Given the description of an element on the screen output the (x, y) to click on. 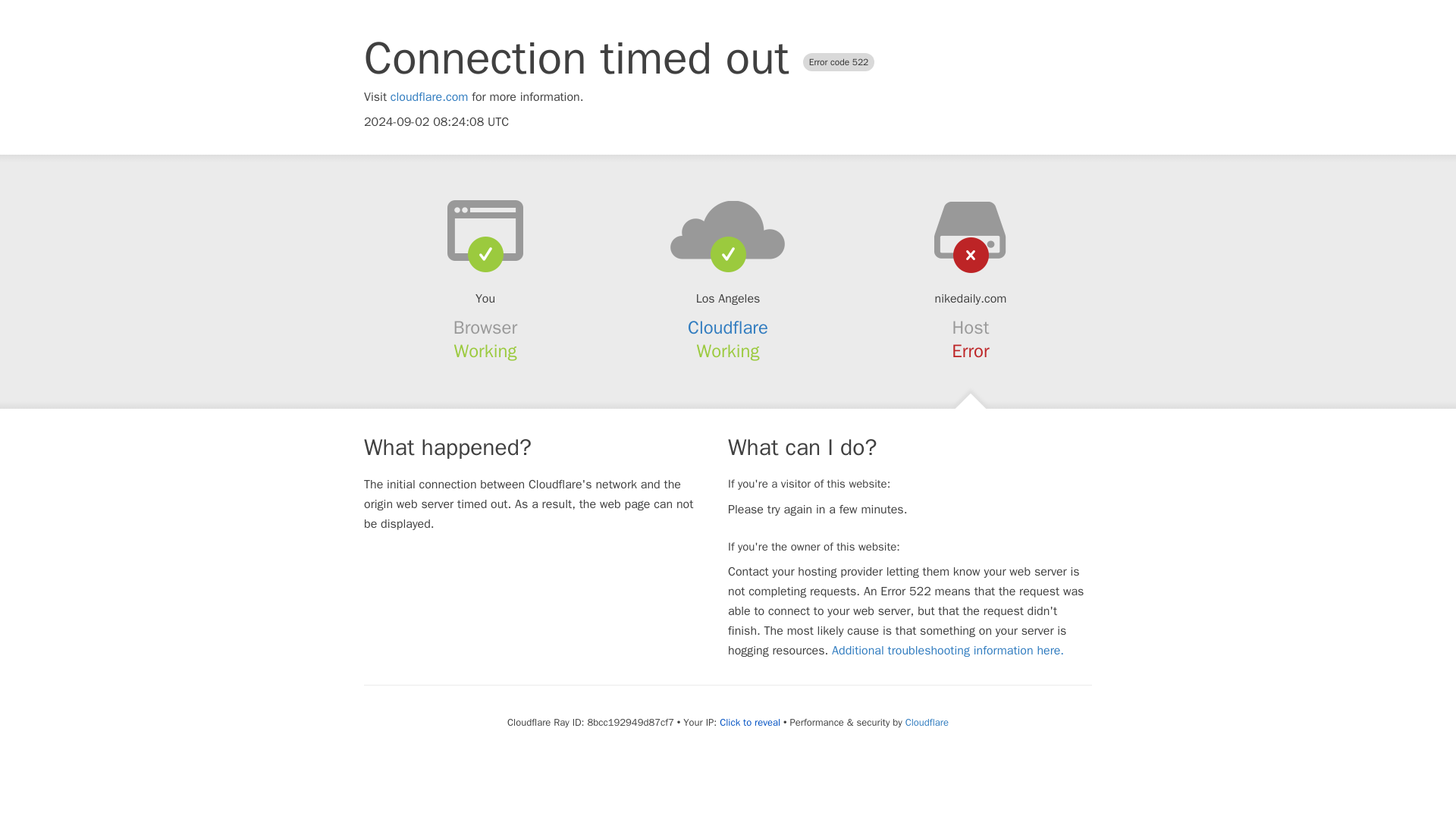
Click to reveal (749, 722)
Cloudflare (727, 327)
Additional troubleshooting information here. (947, 650)
Cloudflare (927, 721)
cloudflare.com (429, 96)
